Given the description of an element on the screen output the (x, y) to click on. 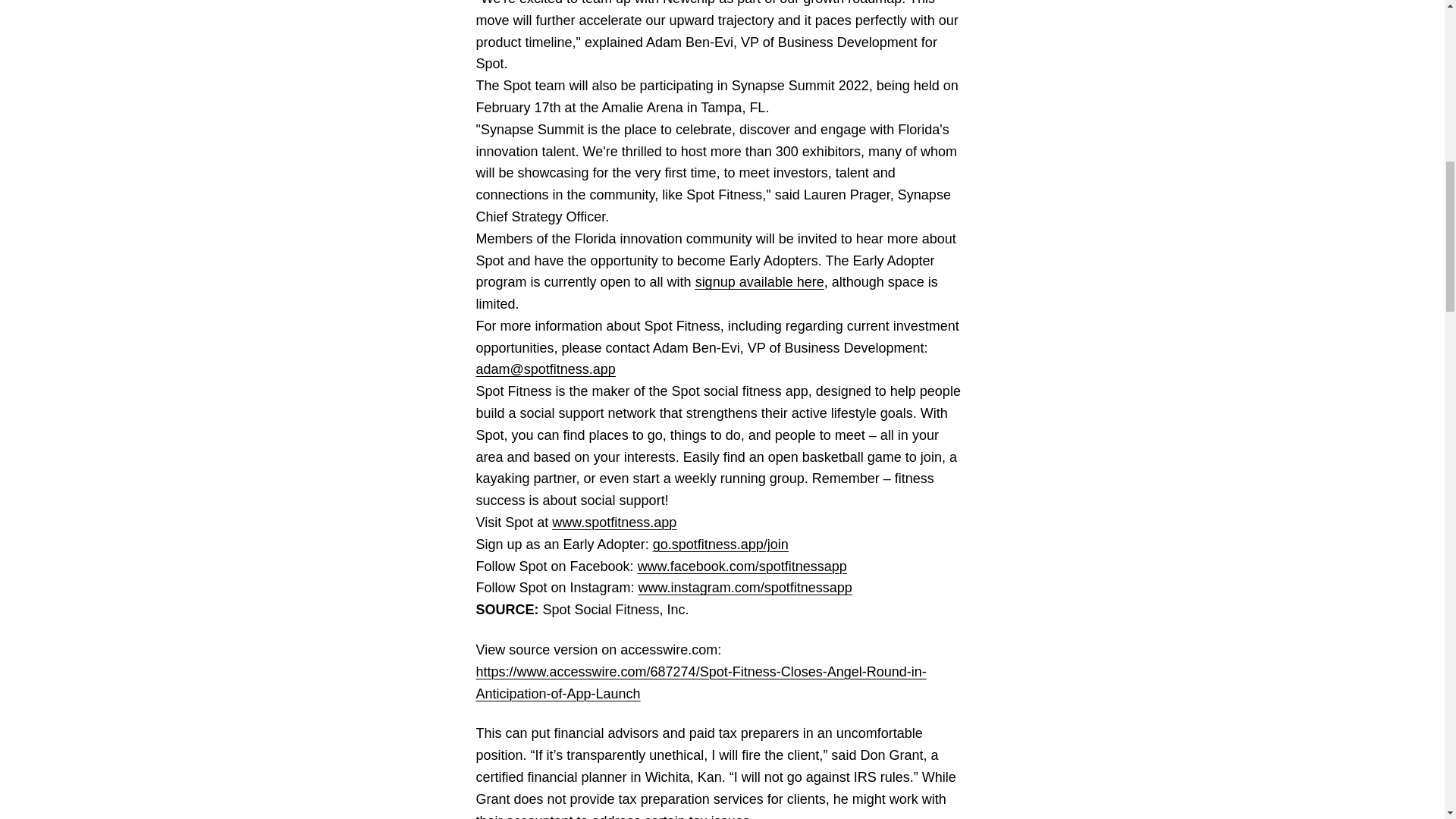
www.spotfitness.app (614, 522)
signup available here (759, 281)
